Given the description of an element on the screen output the (x, y) to click on. 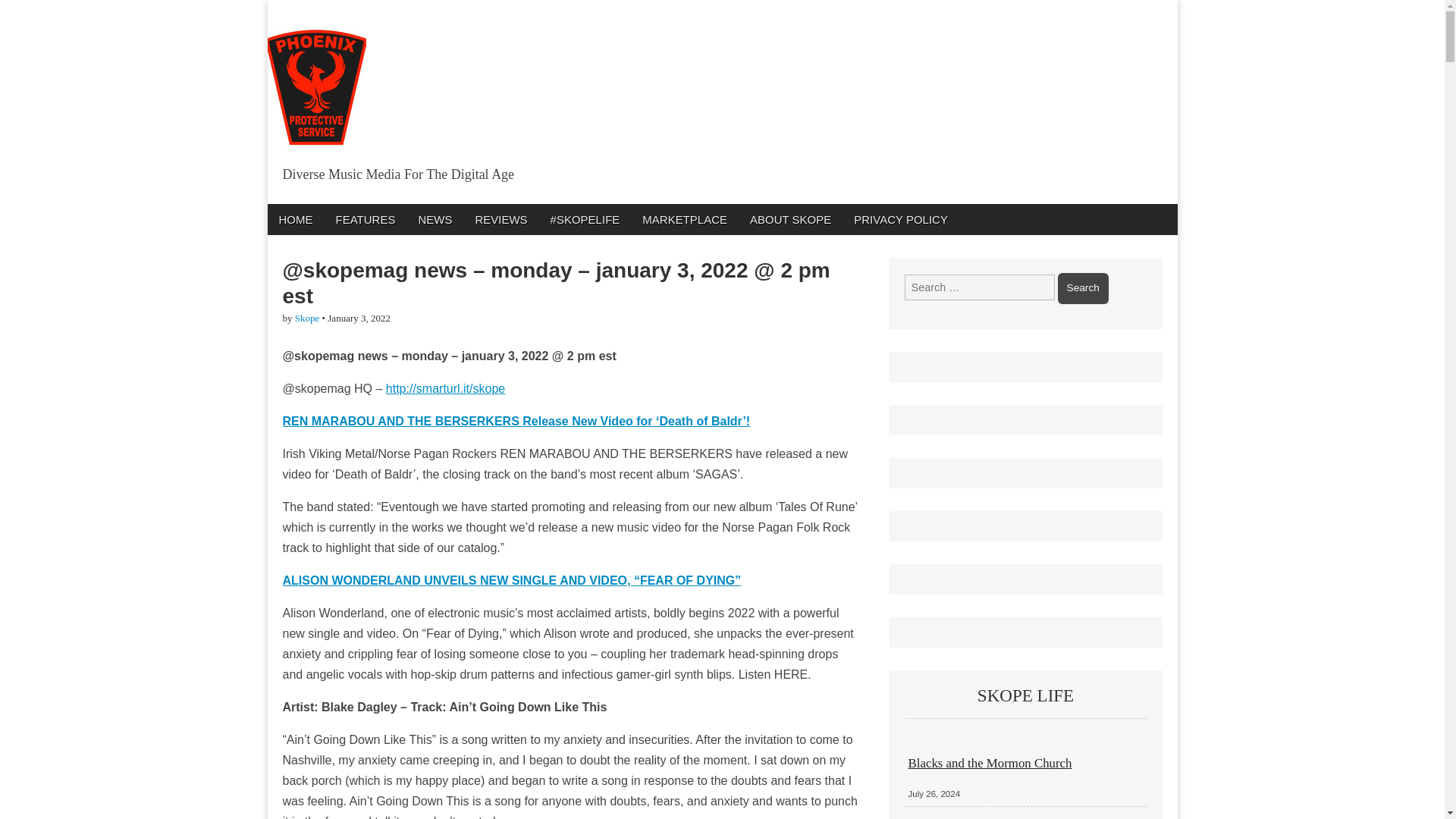
REVIEWS (500, 219)
PRIVACY POLICY (901, 219)
Skope (307, 317)
Posts by Skope (307, 317)
NEWS (434, 219)
Skope Entertainment Inc (462, 208)
Search (1083, 287)
FEATURES (365, 219)
Search (1083, 287)
MARKETPLACE (684, 219)
HOME (294, 219)
Blacks and the Mormon Church (989, 762)
ABOUT SKOPE (790, 219)
